Given the description of an element on the screen output the (x, y) to click on. 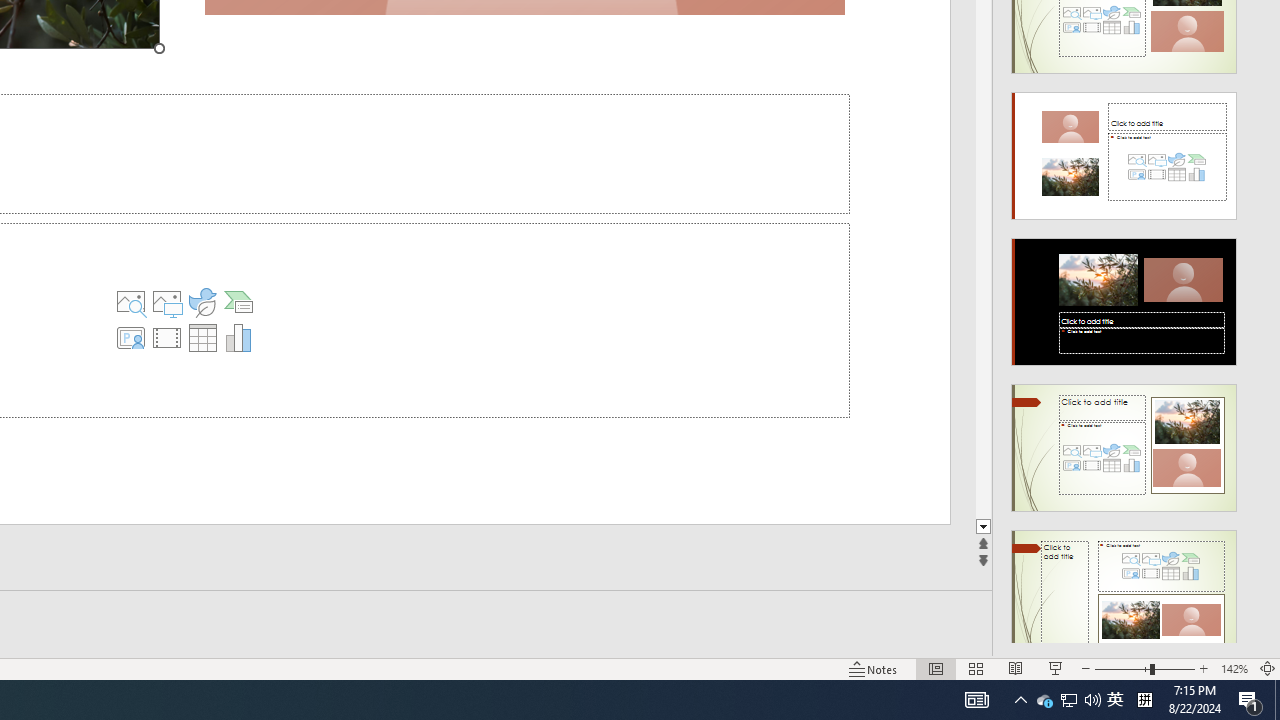
Insert Video (167, 337)
Insert Chart (238, 337)
Stock Images (131, 301)
Action Center, 1 new notification (1250, 699)
